Given the description of an element on the screen output the (x, y) to click on. 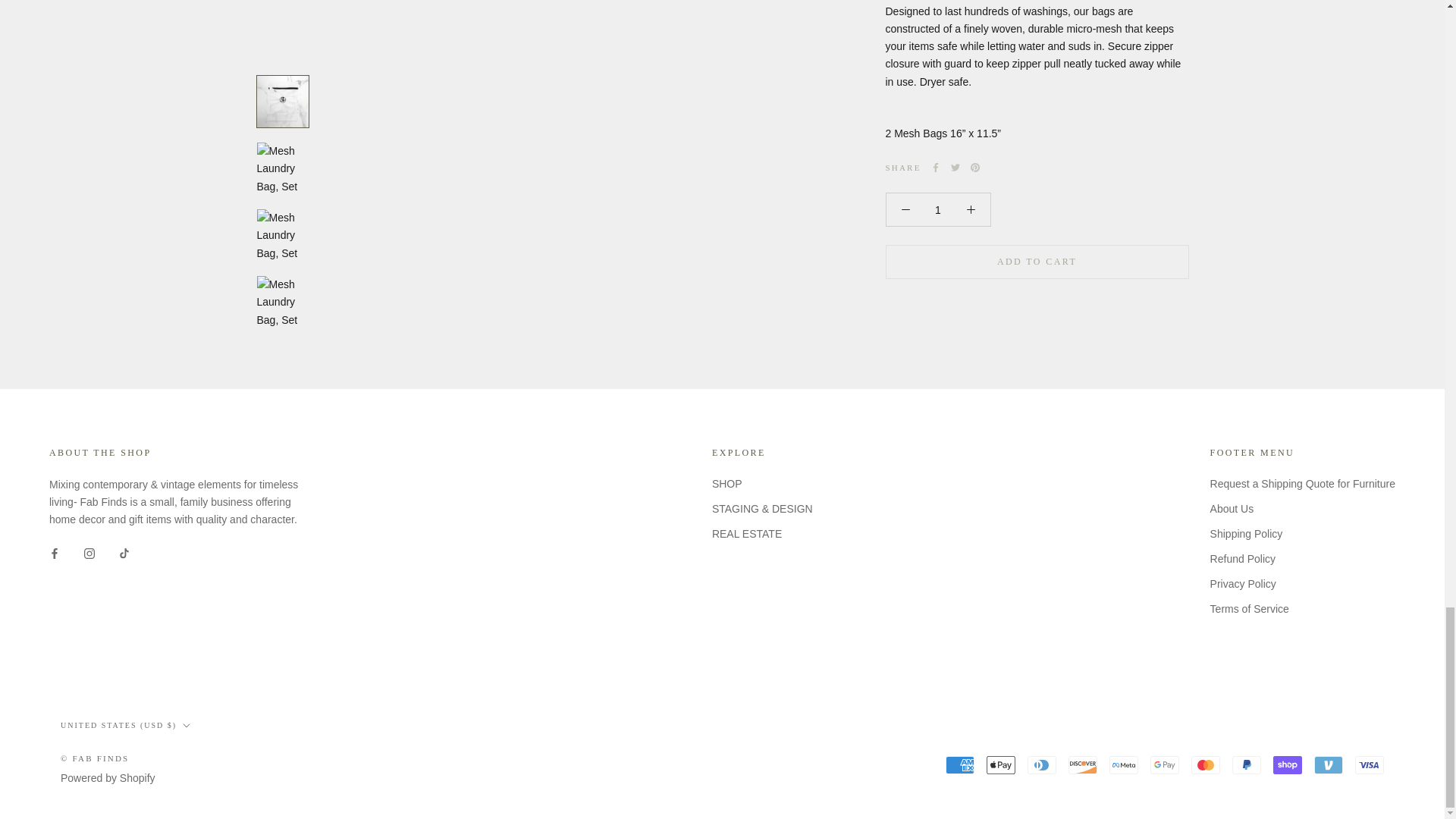
Google Pay (1164, 764)
Discover (1082, 764)
Meta Pay (1123, 764)
Mastercard (1205, 764)
Shop Pay (1286, 764)
PayPal (1245, 764)
American Express (959, 764)
Diners Club (1042, 764)
Apple Pay (1000, 764)
Venmo (1328, 764)
